Given the description of an element on the screen output the (x, y) to click on. 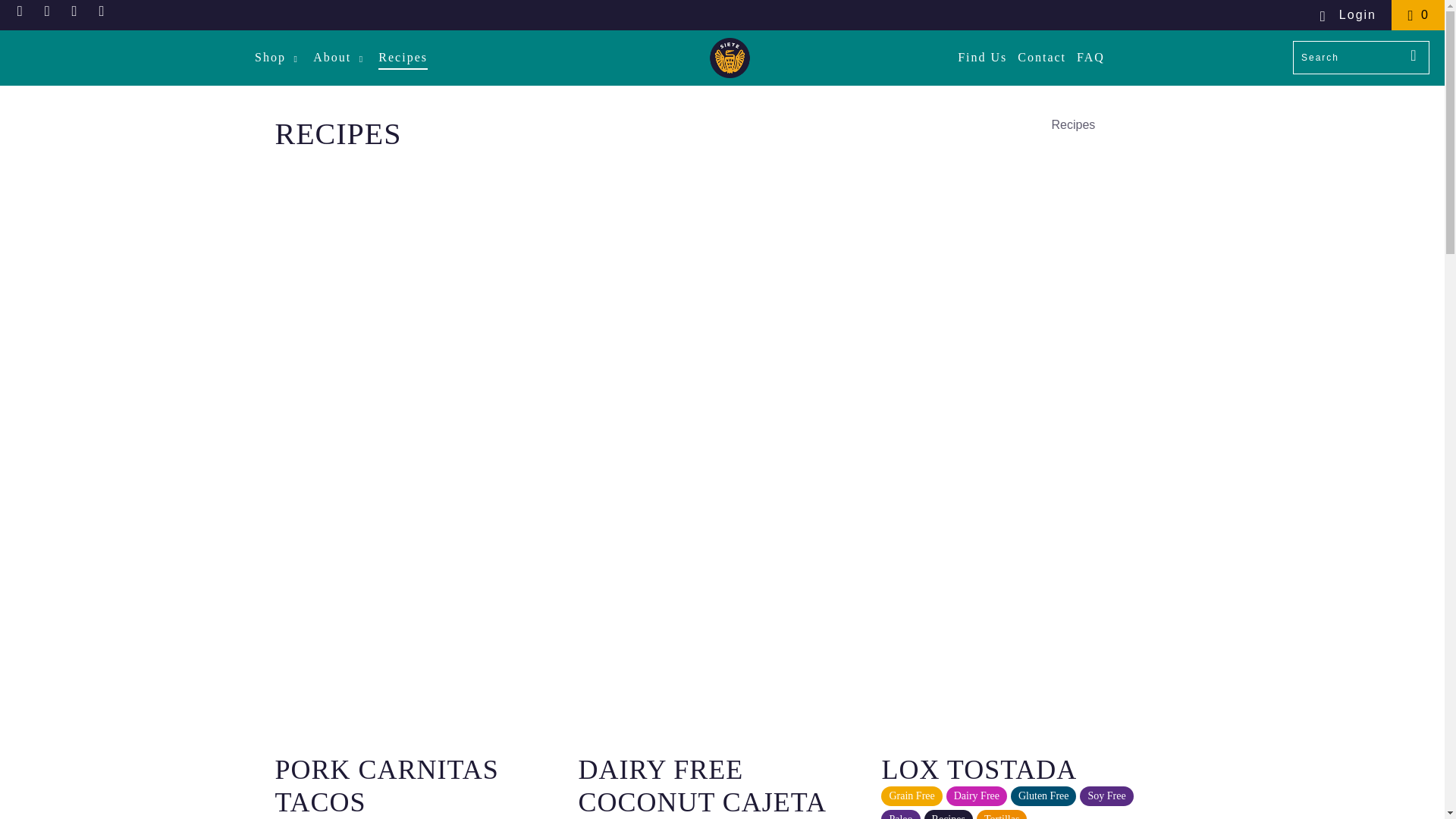
Sietefoods.com on Pinterest (47, 9)
Login (1347, 15)
Recipes (338, 133)
Sietefoods.com on Instagram (73, 9)
Sietefoods.com (730, 57)
Shop (278, 57)
About (340, 57)
Sietefoods.com on Facebook (19, 9)
Email Sietefoods.com (101, 9)
My Account  (1347, 15)
